Given the description of an element on the screen output the (x, y) to click on. 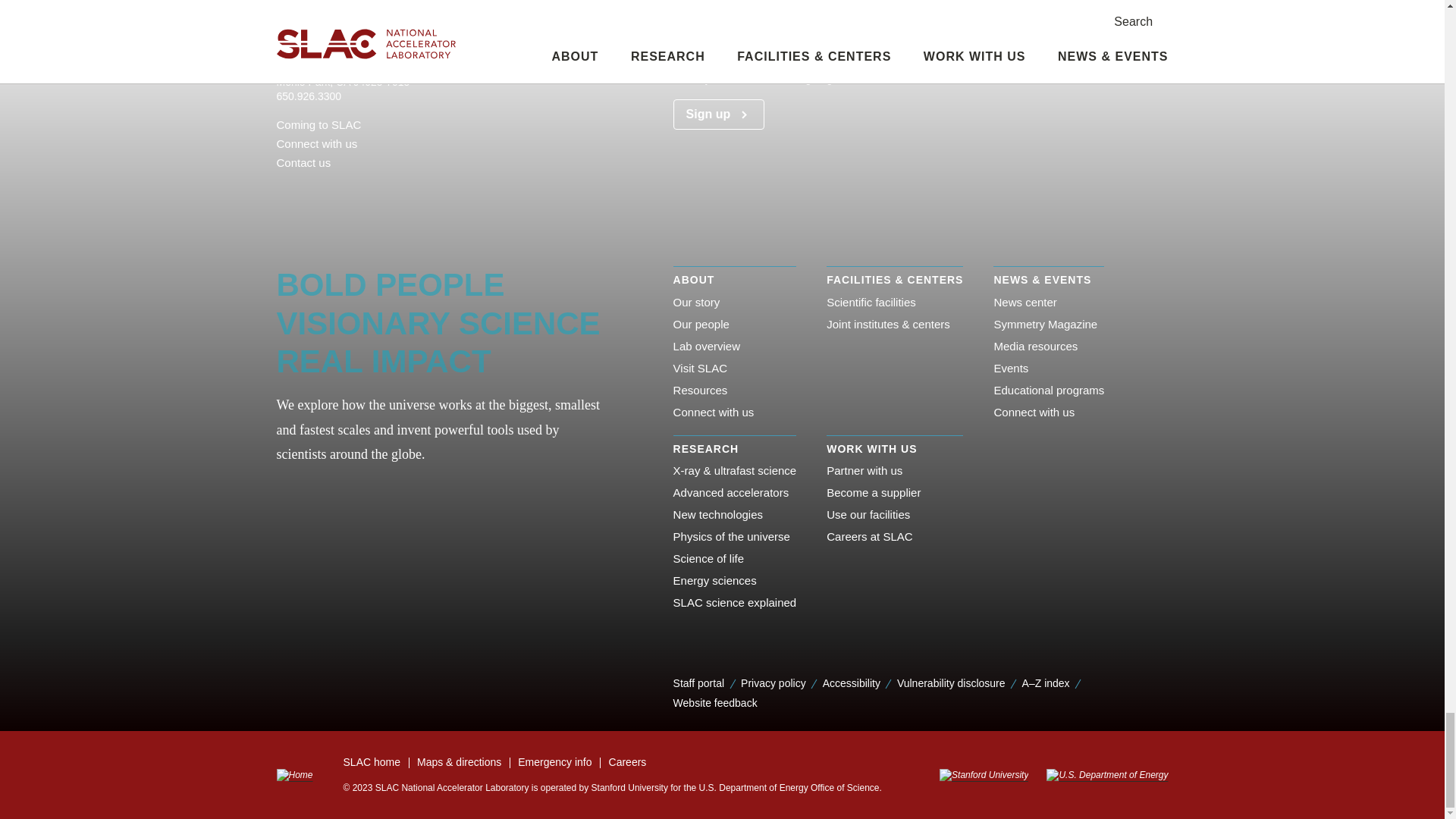
Stanford University (983, 774)
Twitter (378, 190)
LinkedIn (355, 190)
Home (294, 774)
Facebook (282, 190)
Instagram (330, 190)
U.S. Department of Energy (1101, 774)
Flickr (306, 190)
YouTube (403, 190)
